Given the description of an element on the screen output the (x, y) to click on. 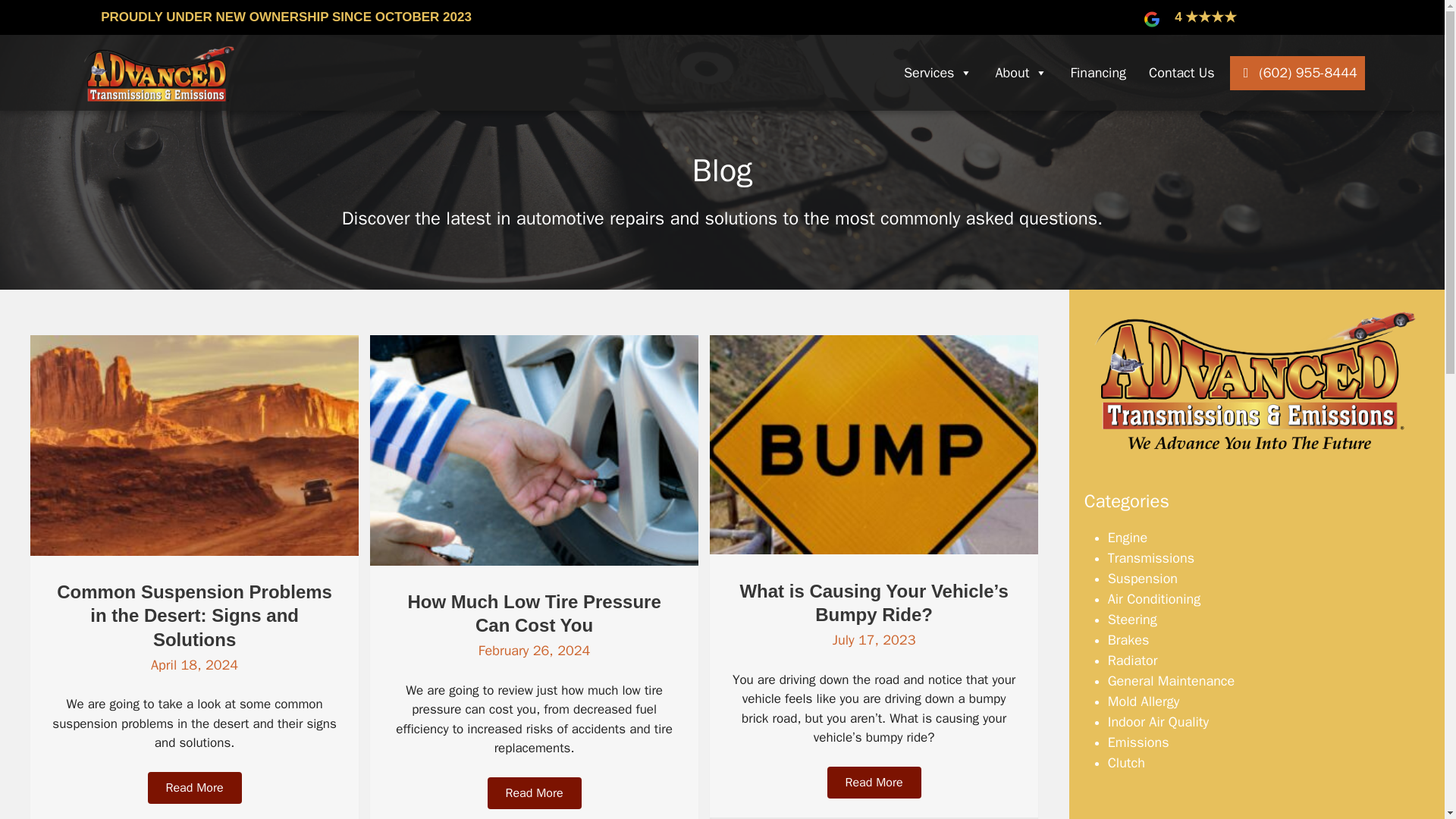
About (1020, 72)
Read More (533, 793)
How Much Low Tire Pressure Can Cost You (534, 613)
Financing (1098, 72)
Services (937, 72)
Read More (194, 787)
About Advanced Transmissions (1256, 381)
How Much Low Tire Pressure Can Cost You (534, 613)
How Much Low Tire Pressure Can Cost You (533, 561)
Read More (874, 782)
Contact Us (1182, 72)
Google Rainbow Icon (1151, 19)
